Given the description of an element on the screen output the (x, y) to click on. 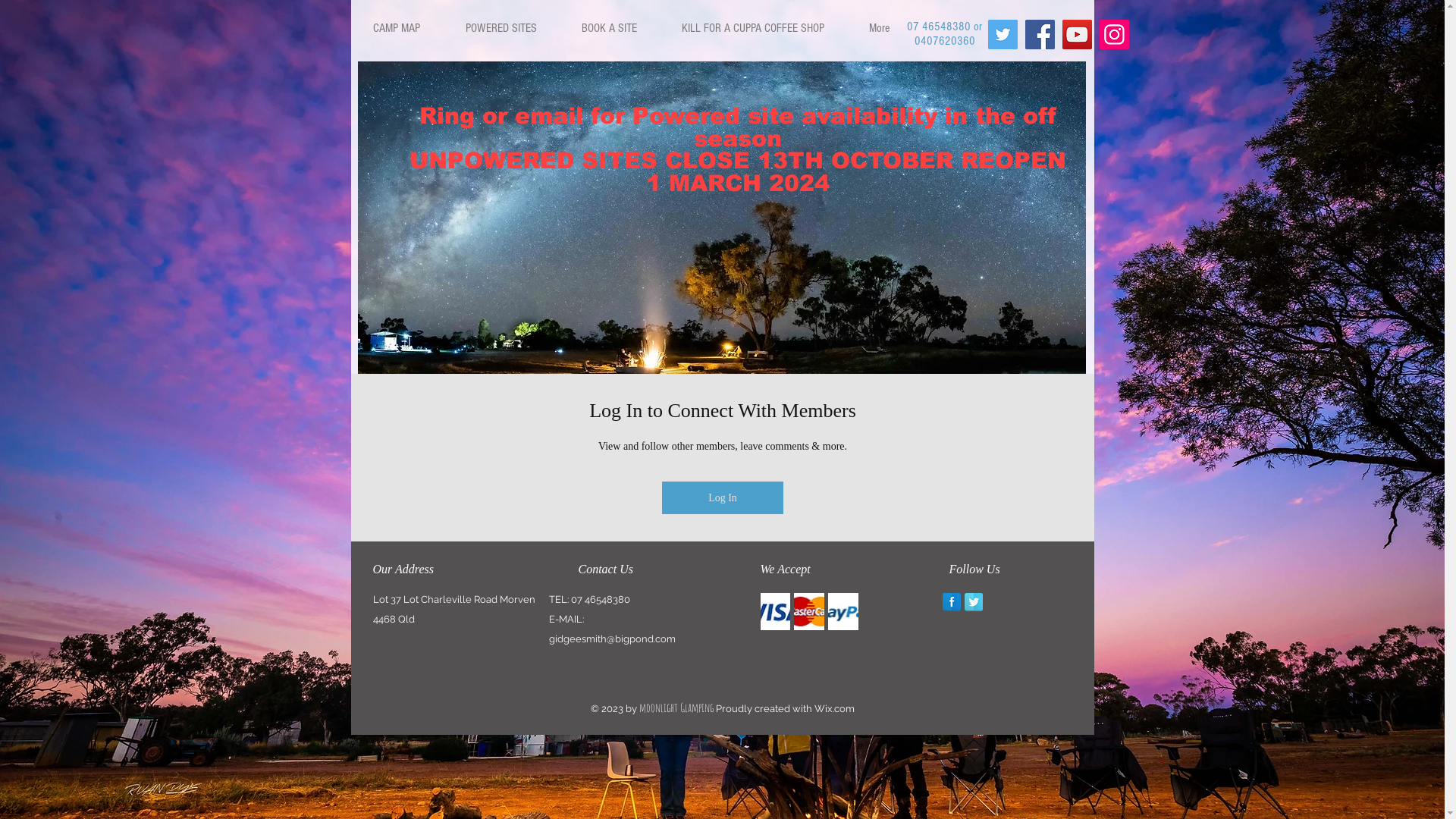
POWERED SITES Element type: text (500, 27)
BOOK A SITE Element type: text (608, 27)
Wix.co Element type: text (829, 708)
Members Element type: hover (721, 457)
KILL FOR A CUPPA COFFEE SHOP Element type: text (751, 27)
CAMP MAP Element type: text (396, 27)
gidgeesmith@bigpond.com Element type: text (612, 638)
m Element type: text (848, 708)
